Given the description of an element on the screen output the (x, y) to click on. 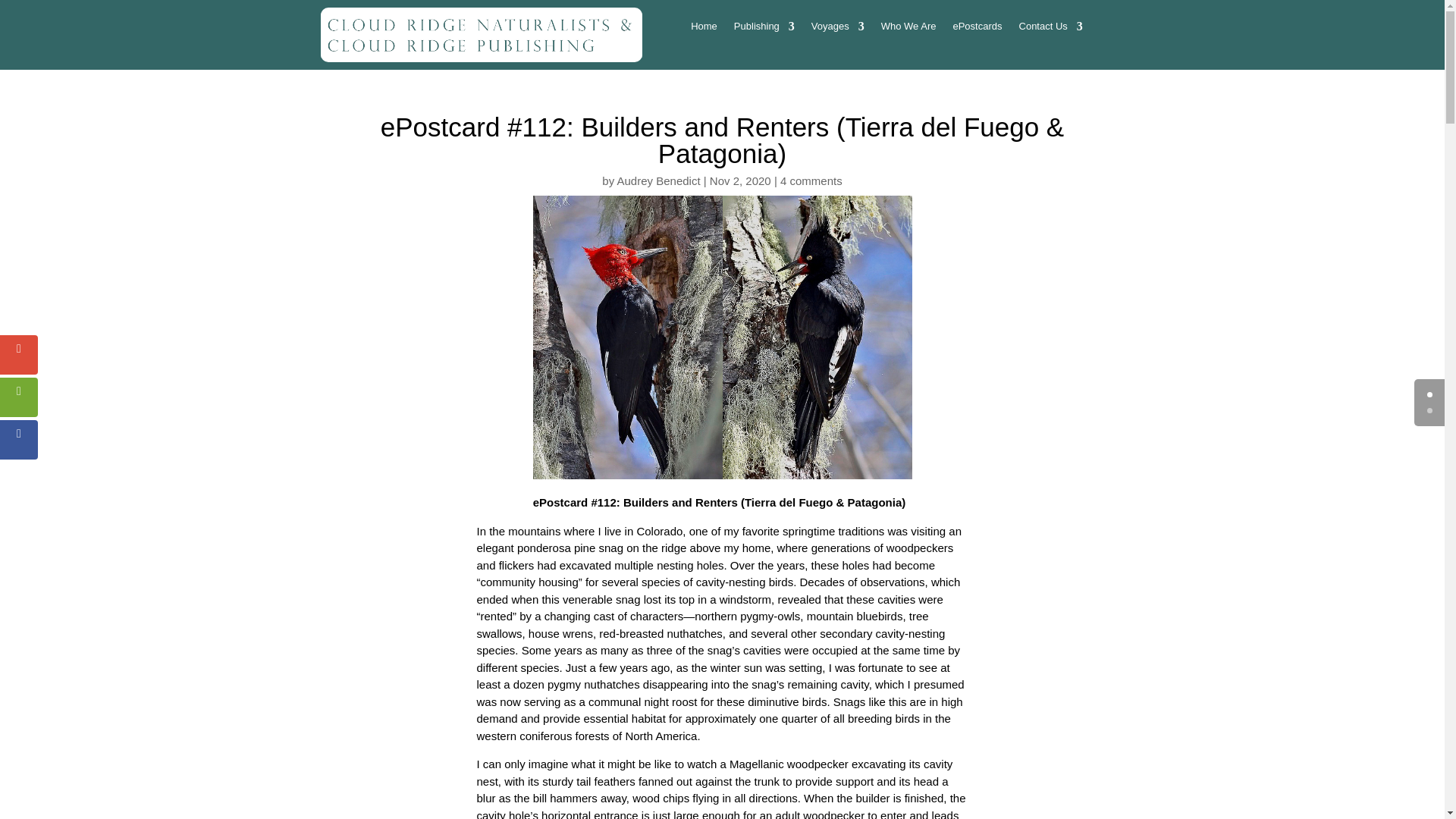
4 comments (811, 180)
Publishing (763, 29)
Posts by Audrey Benedict (658, 180)
Voyages (837, 29)
Contact Us (1051, 29)
Who We Are (908, 29)
CRN-CRP header-v2.1 blog (481, 35)
ePostcards (976, 29)
Home (703, 29)
Audrey Benedict (658, 180)
